Given the description of an element on the screen output the (x, y) to click on. 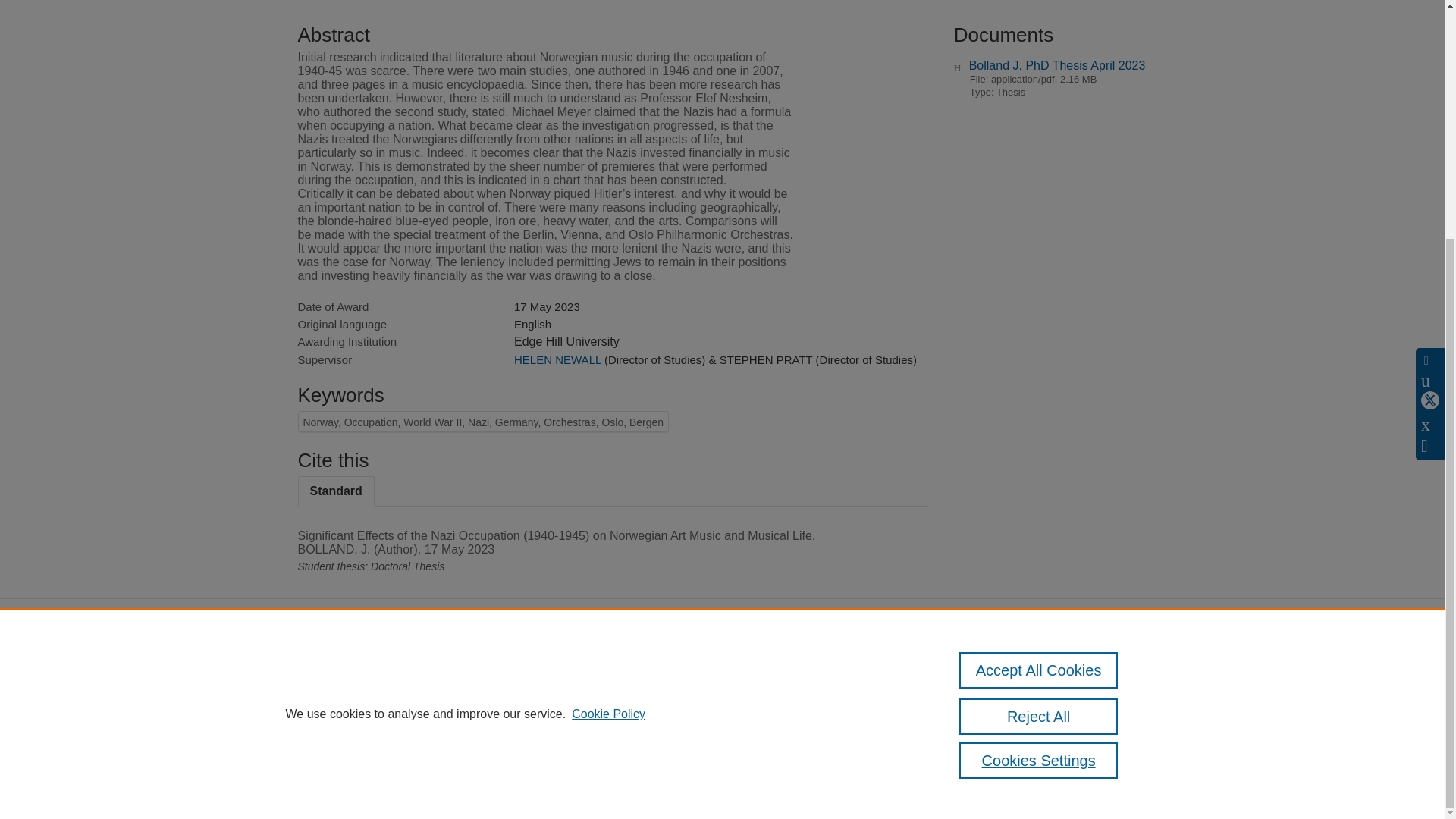
Reject All (1038, 388)
Cookies Settings (1038, 432)
Cookie Policy (608, 385)
Cookies Settings (334, 747)
Log in to Pure (327, 767)
Scopus (394, 674)
Edge Hill University data protection policy (1008, 680)
HELEN NEWALL (557, 359)
About web accessibility (1006, 706)
use of cookies (796, 726)
